Given the description of an element on the screen output the (x, y) to click on. 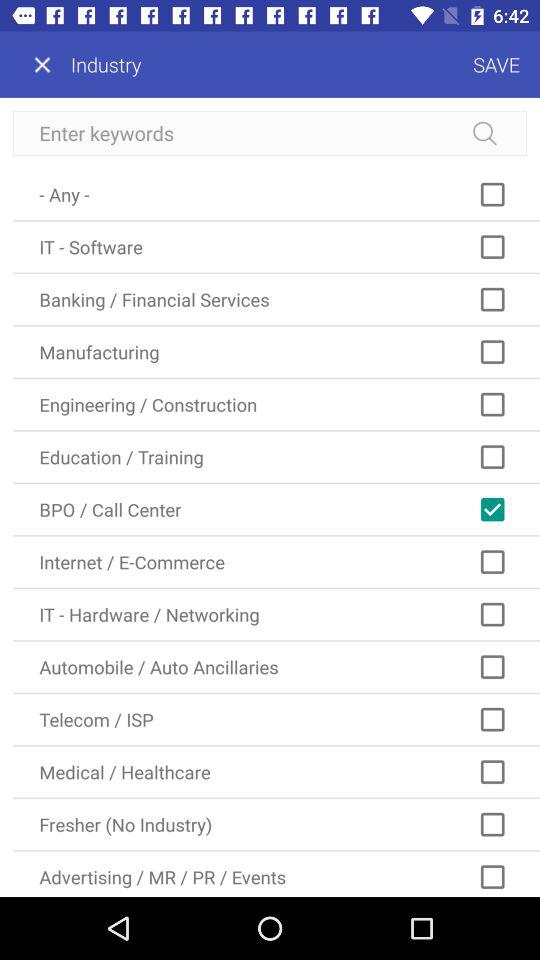
click the advertising mr pr item (276, 873)
